Given the description of an element on the screen output the (x, y) to click on. 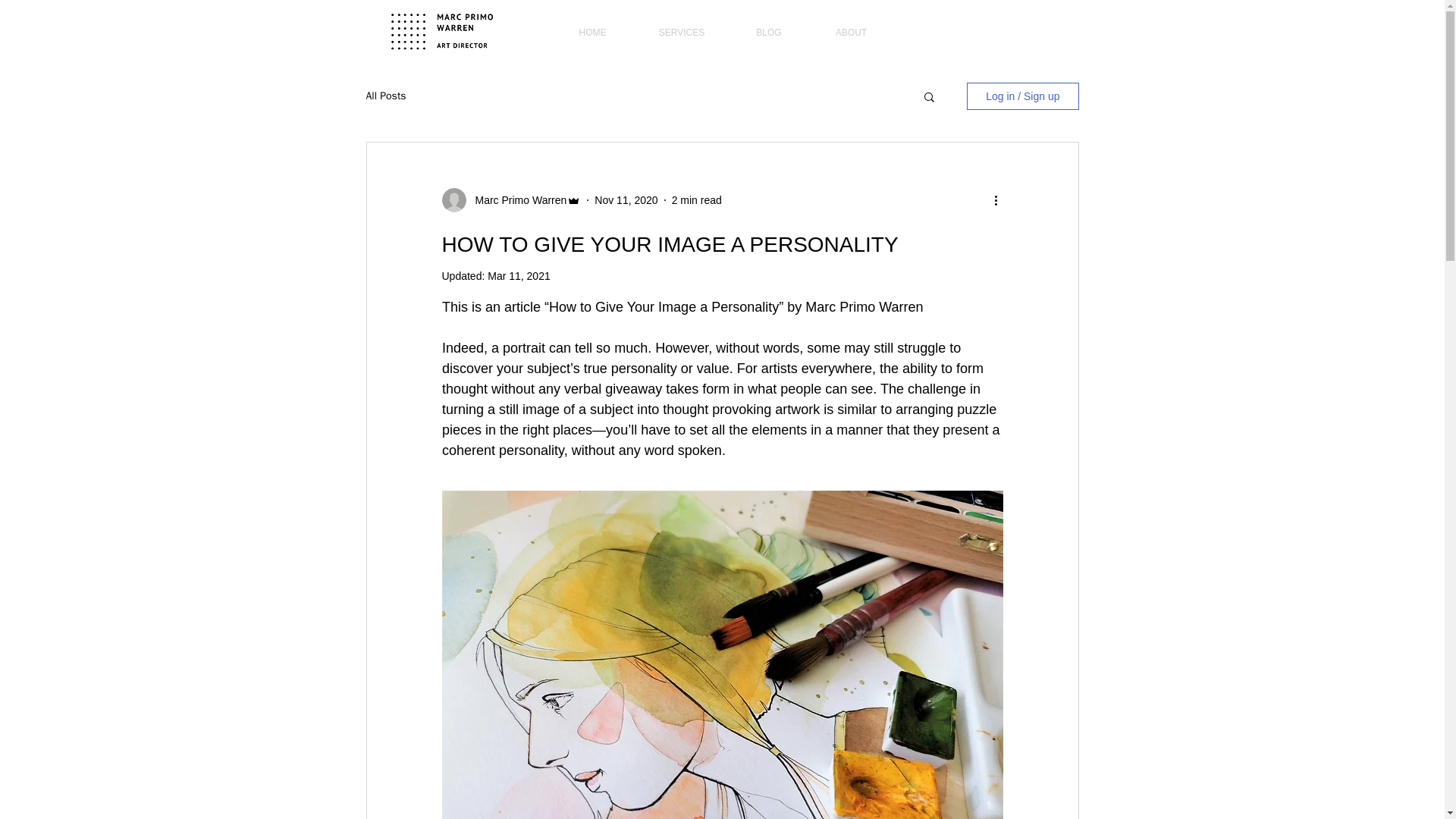
BLOG (769, 32)
Nov 11, 2020 (626, 200)
ABOUT (850, 32)
Marc Primo Warren (515, 200)
HOME (591, 32)
Mar 11, 2021 (518, 275)
All Posts (385, 96)
2 min read (696, 200)
SERVICES (681, 32)
